Given the description of an element on the screen output the (x, y) to click on. 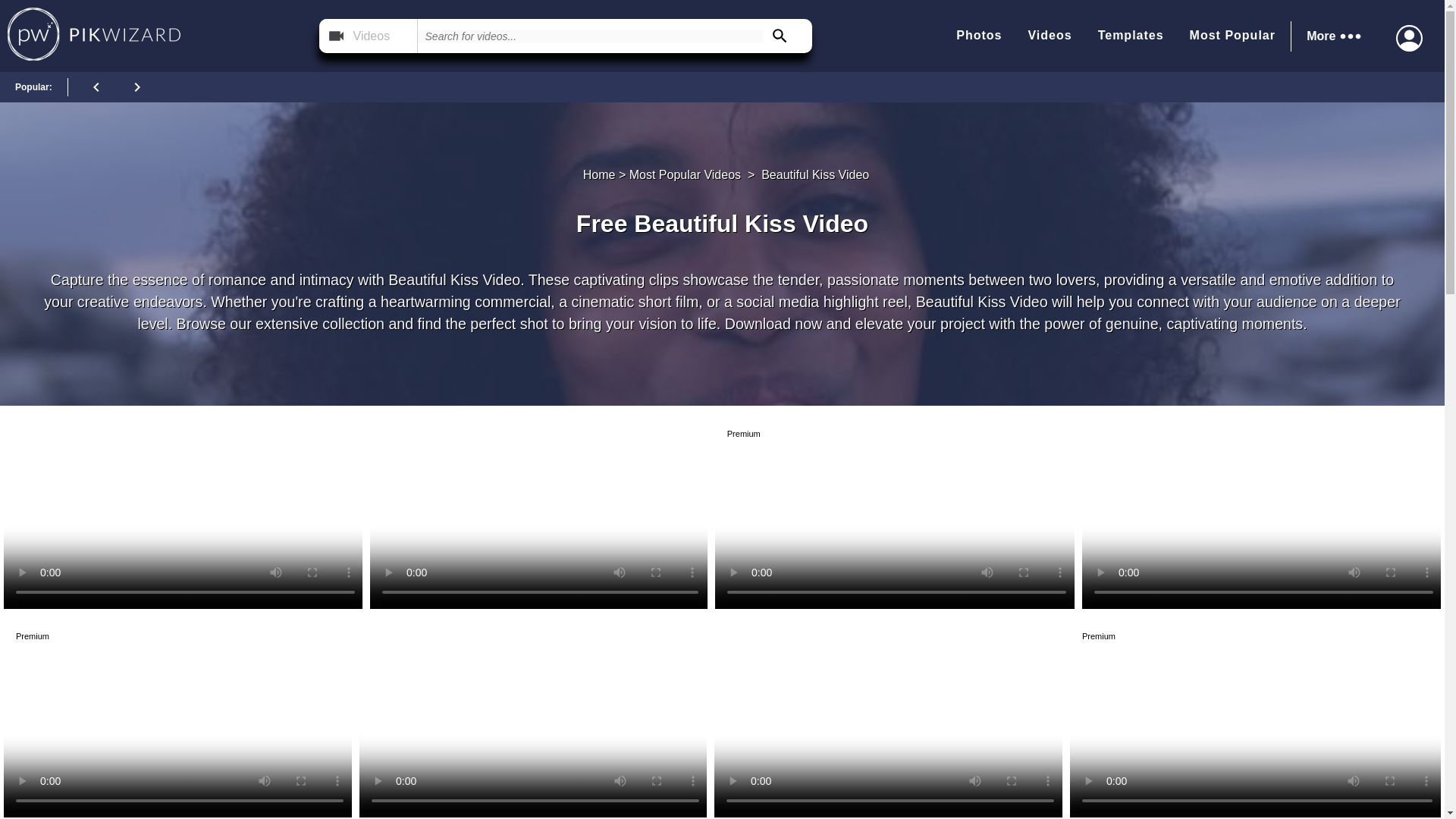
Most Popular Videos (684, 174)
Videos (1049, 35)
Templates (1130, 35)
Videos (367, 35)
Photos (978, 35)
Home (599, 174)
